Given the description of an element on the screen output the (x, y) to click on. 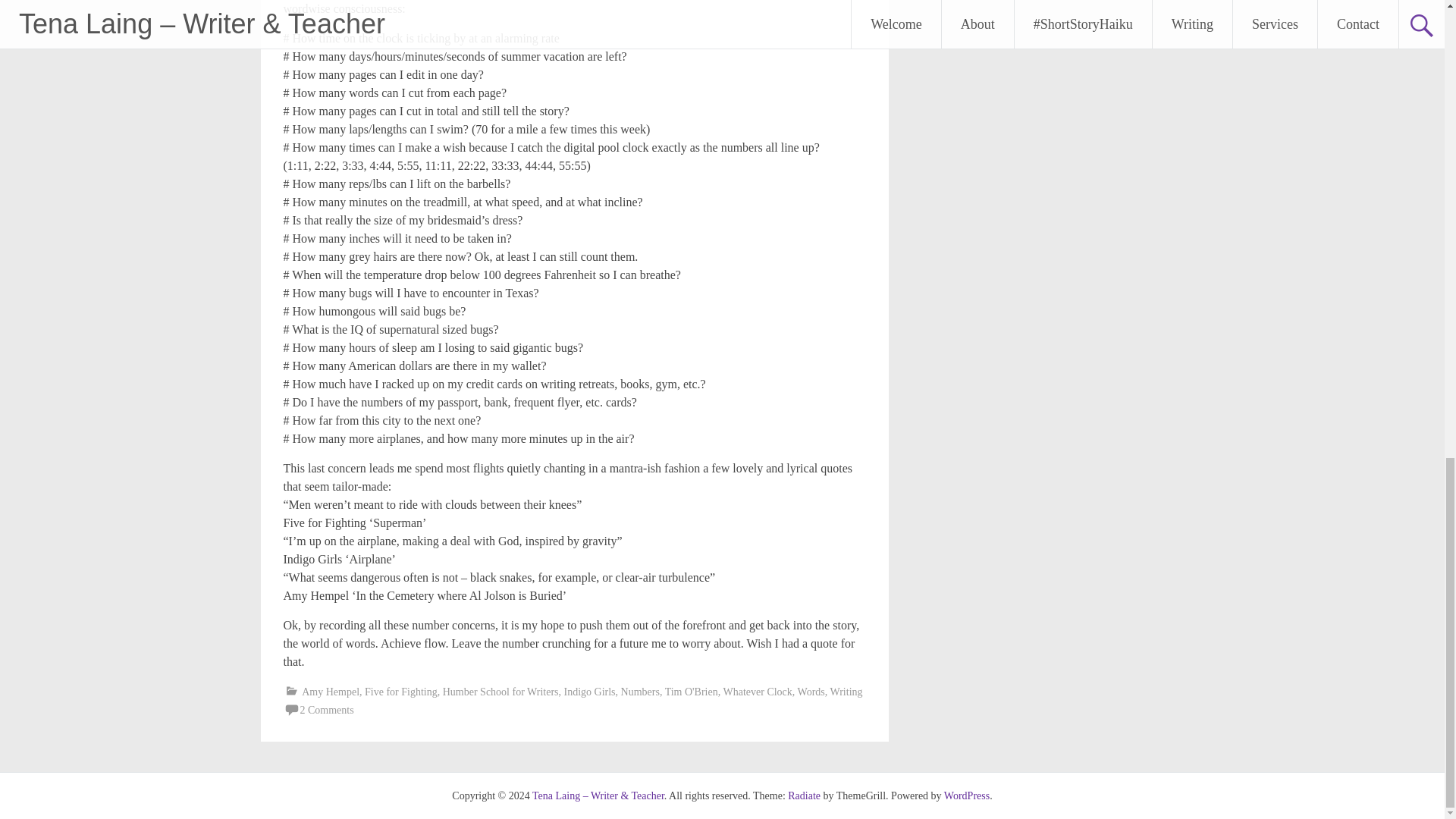
2 Comments (326, 709)
Radiate (804, 795)
Amy Hempel (330, 691)
Words (811, 691)
WordPress (966, 795)
Indigo Girls (589, 691)
Whatever Clock (757, 691)
WordPress (966, 795)
Radiate (804, 795)
Numbers (640, 691)
